Given the description of an element on the screen output the (x, y) to click on. 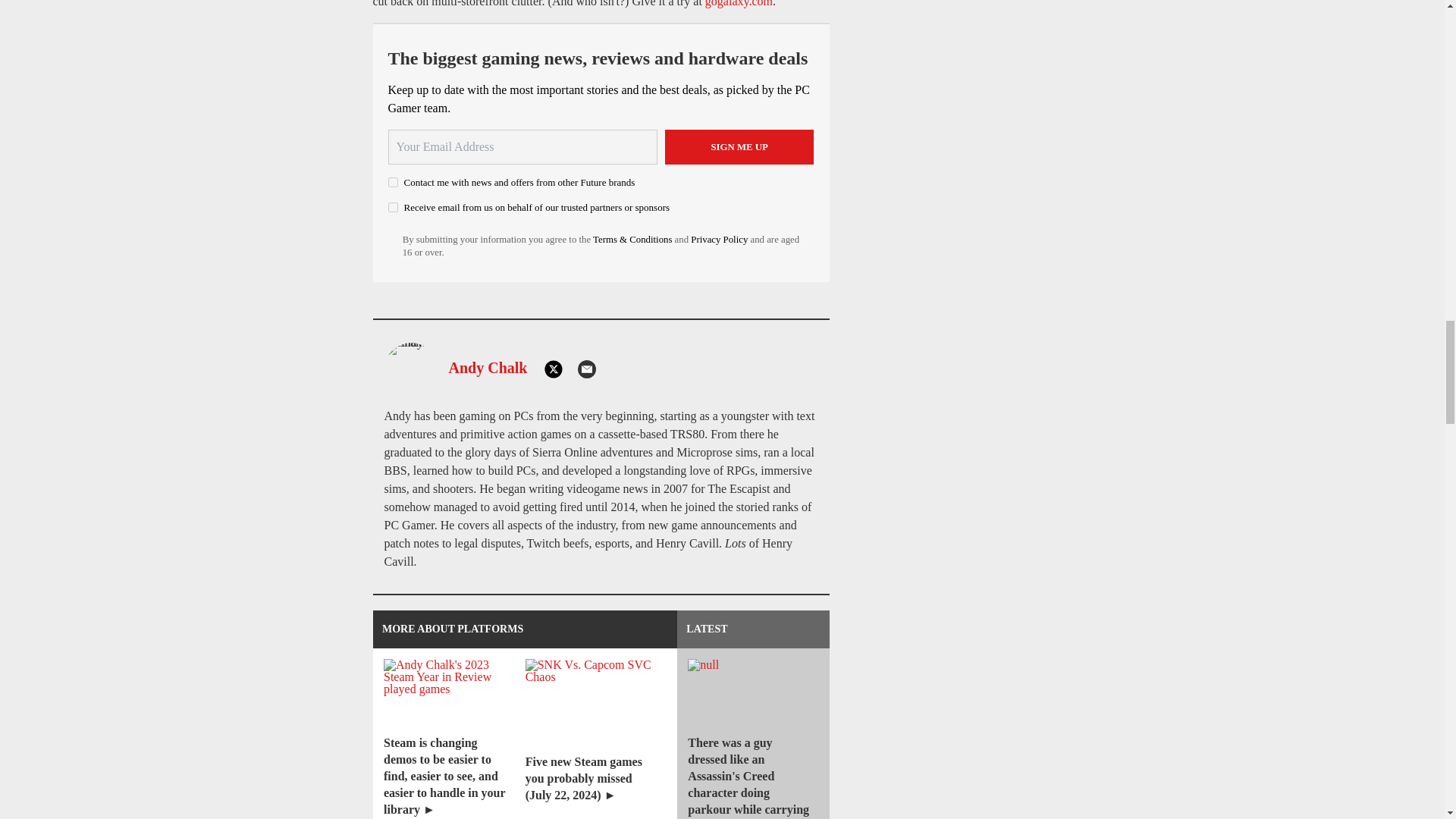
on (392, 182)
Sign me up (739, 146)
on (392, 207)
